Given the description of an element on the screen output the (x, y) to click on. 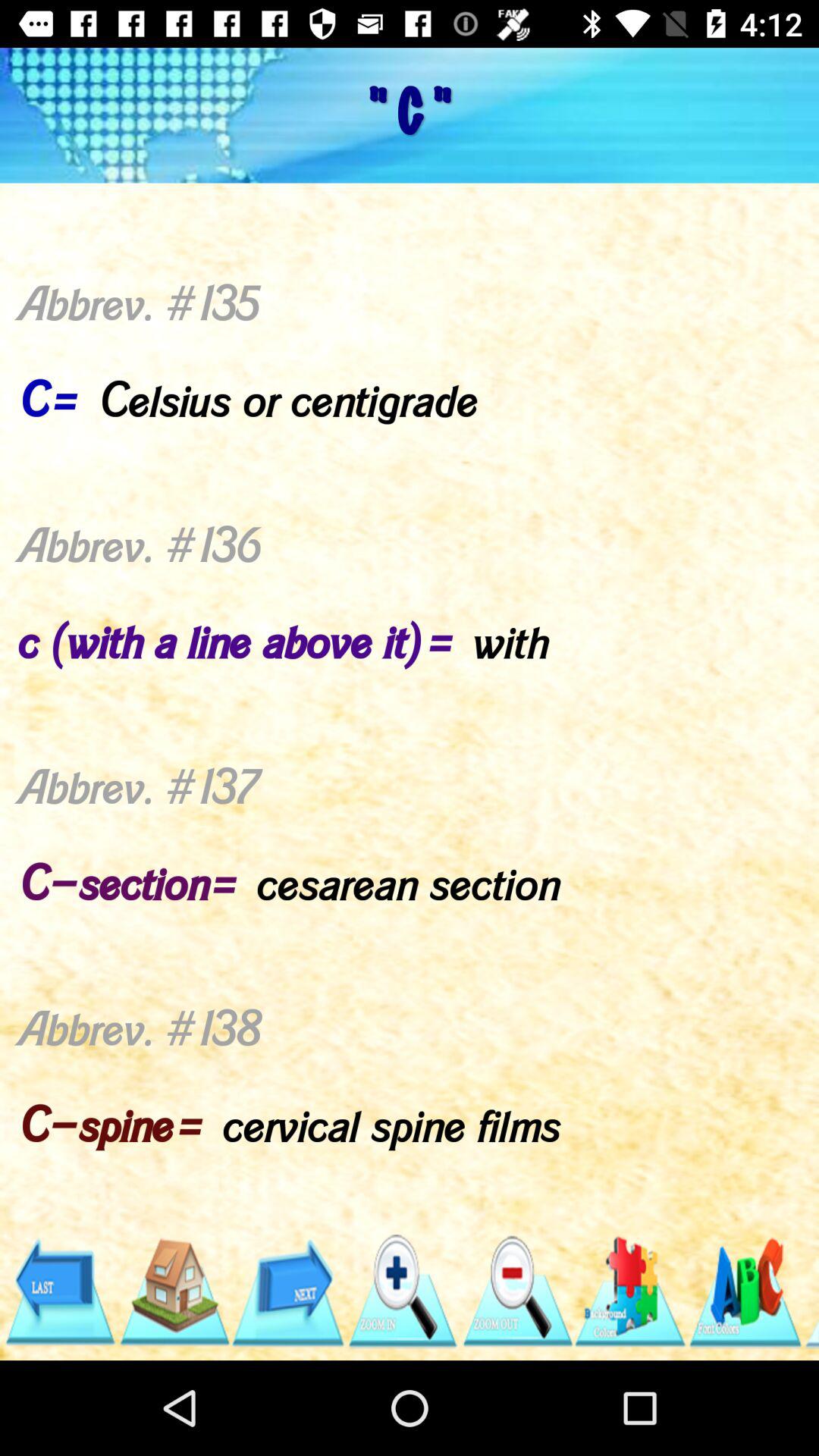
the button is used to zoom out from the current screen which is open (516, 1291)
